Given the description of an element on the screen output the (x, y) to click on. 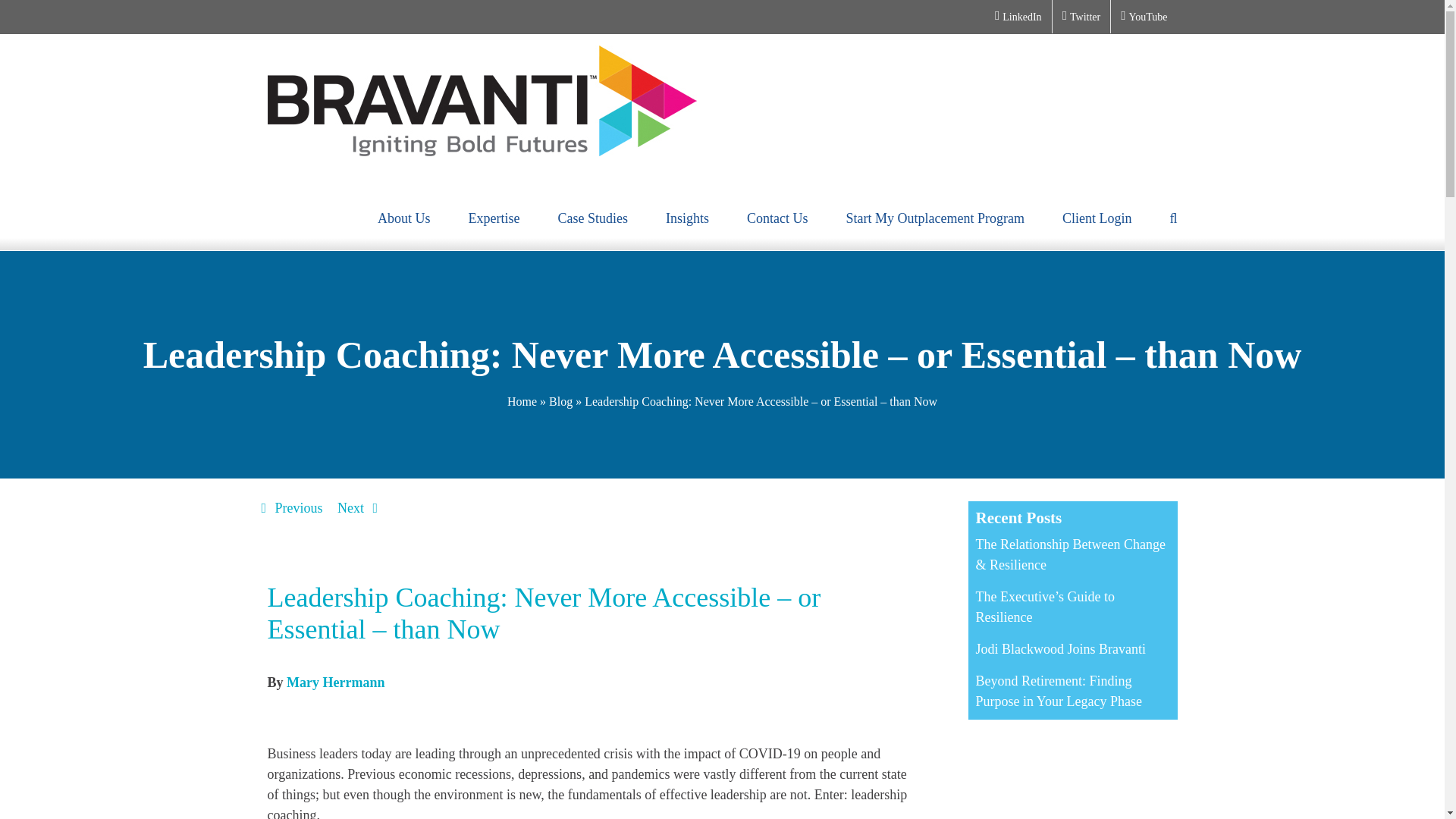
YouTube (1143, 16)
Case Studies (592, 218)
LinkedIn (1018, 16)
Twitter (1081, 16)
